Given the description of an element on the screen output the (x, y) to click on. 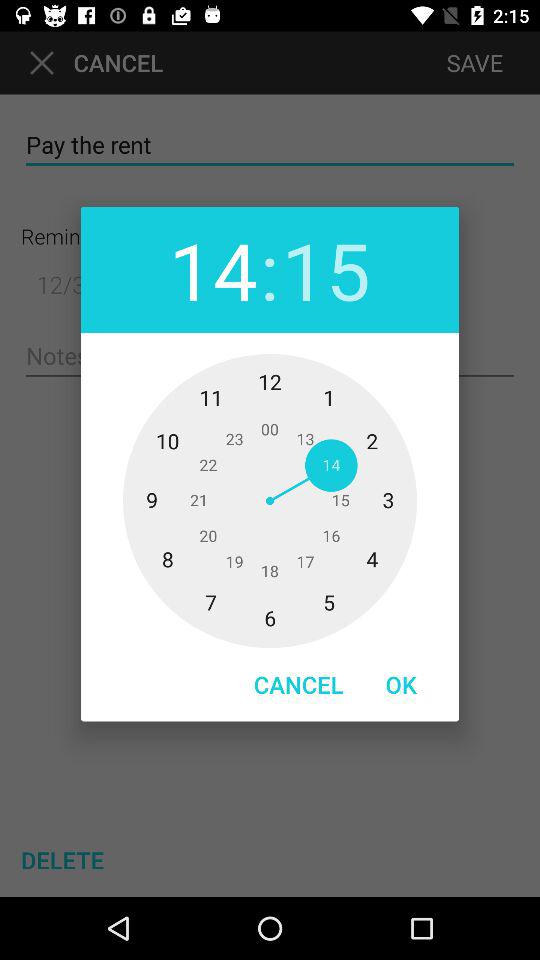
flip until the cancel icon (298, 684)
